Given the description of an element on the screen output the (x, y) to click on. 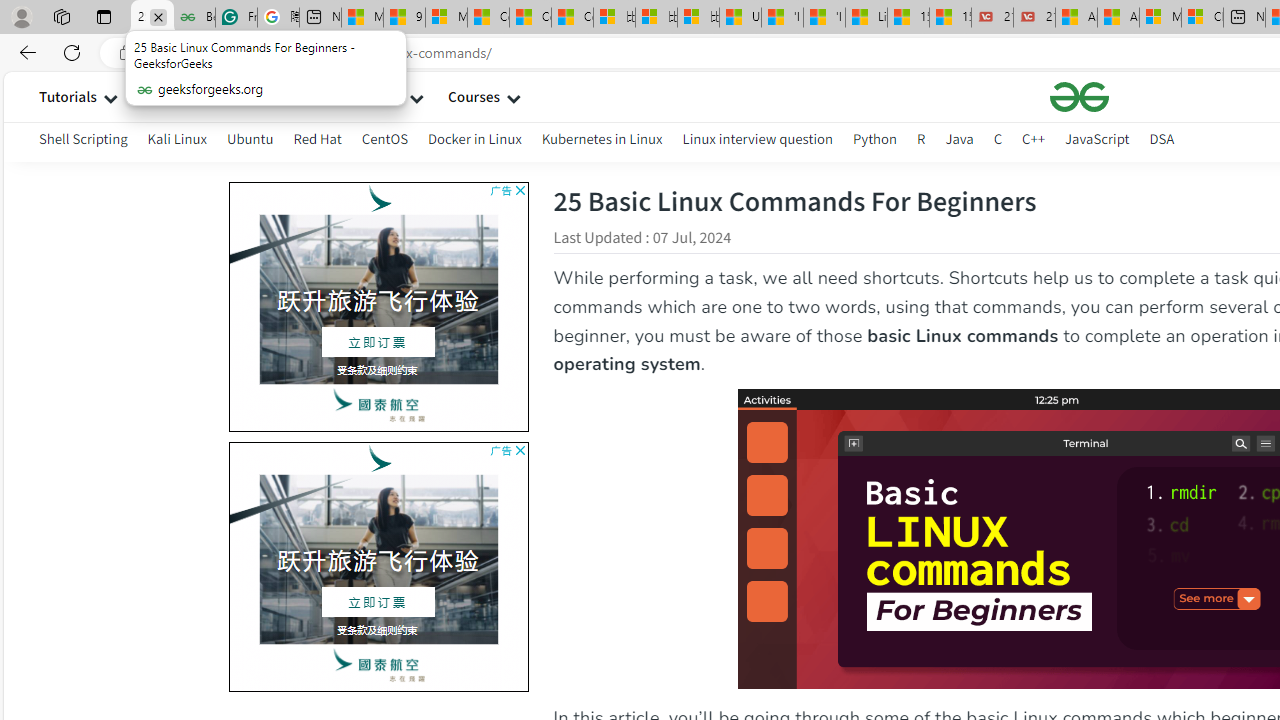
Best SSL Certificates Provider in India - GeeksforGeeks (194, 17)
R (921, 142)
AutomationID: brandFlyLogo (379, 457)
DSA (1162, 138)
Java (959, 142)
Shell Scripting (83, 138)
Red Hat (317, 142)
CentOS (384, 142)
21 Movies That Outdid the Books They Were Based On (1033, 17)
Microsoft Services Agreement (1160, 17)
Linux interview question (757, 138)
Cloud Computing Services | Microsoft Azure (1201, 17)
